Given the description of an element on the screen output the (x, y) to click on. 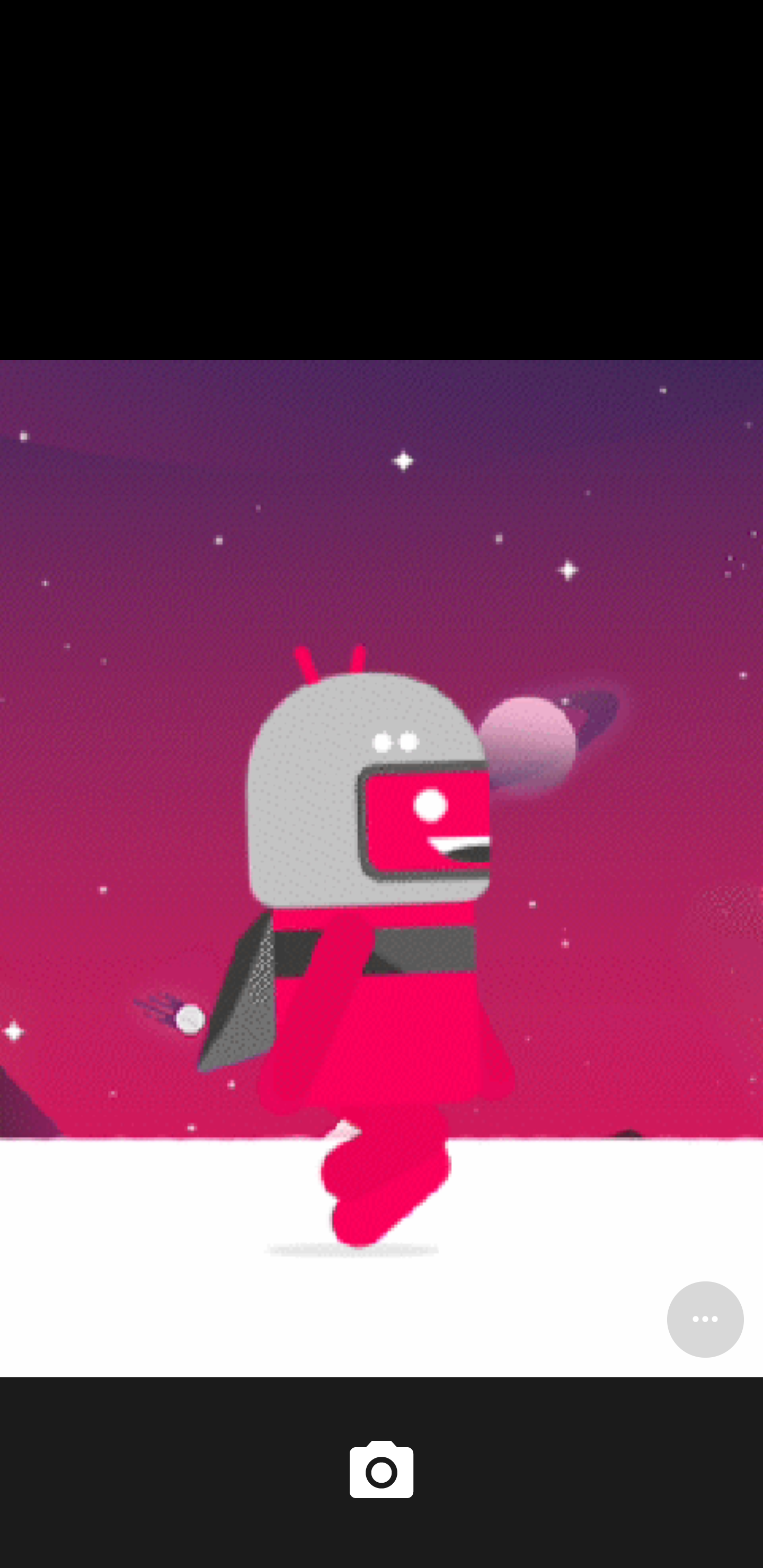
Options (704, 1319)
Shutter (381, 1472)
